Given the description of an element on the screen output the (x, y) to click on. 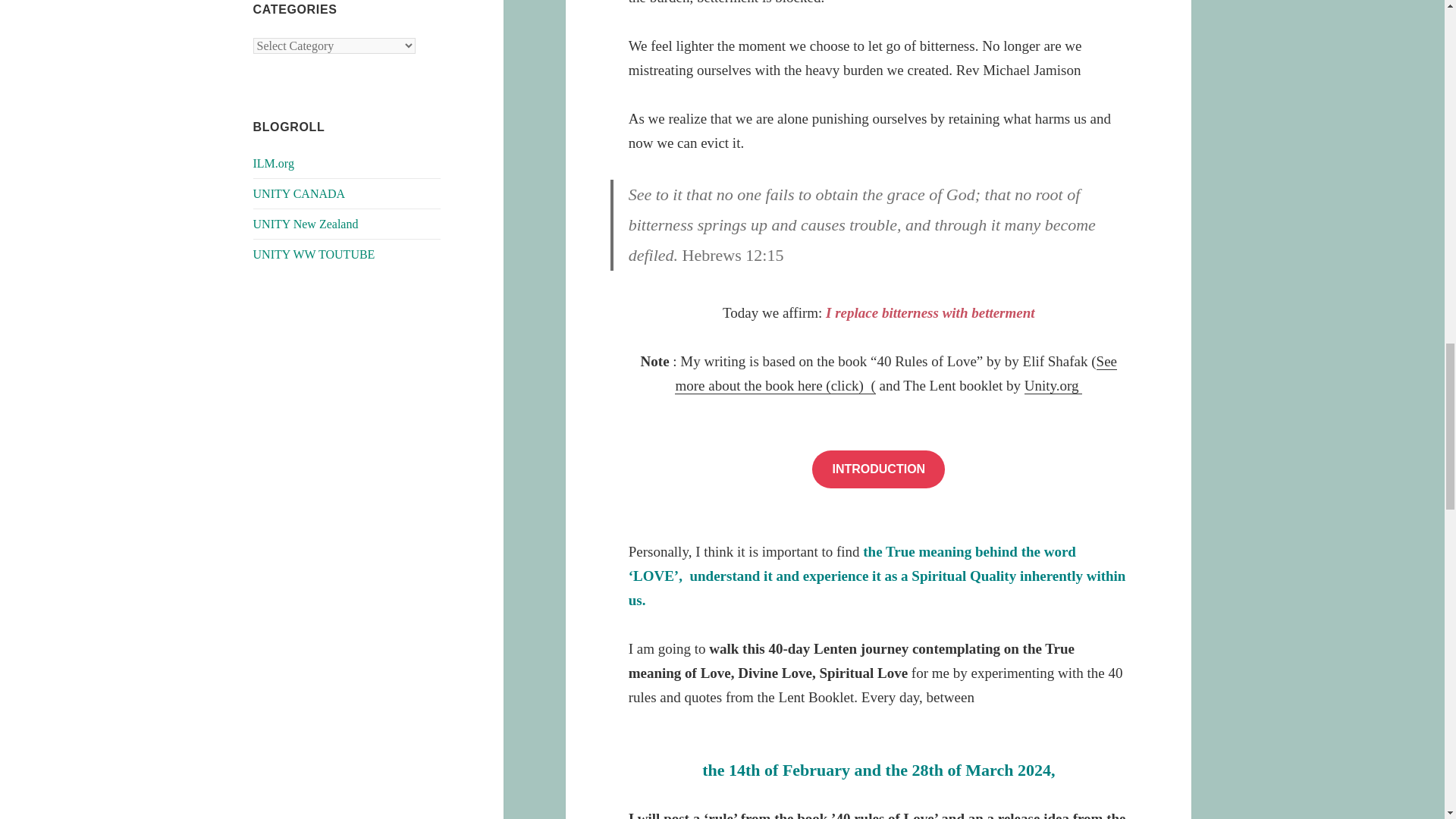
ILM.org (273, 163)
Unity.org  (1054, 385)
UNITY WW TOUTUBE (314, 254)
UNITY New Zealand (305, 223)
UNITY CANADA (299, 193)
INTRODUCTION (878, 469)
